Given the description of an element on the screen output the (x, y) to click on. 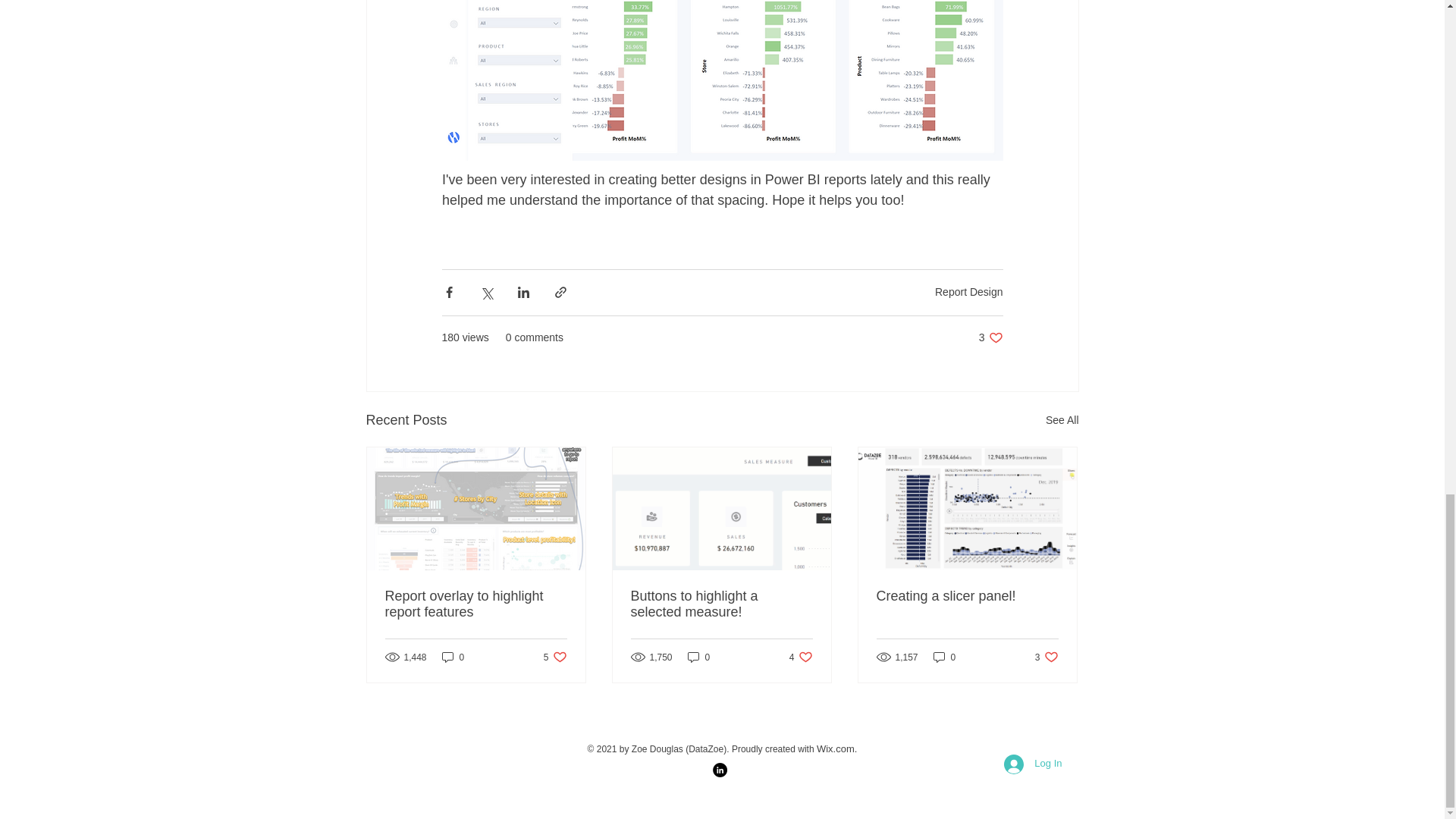
0 (990, 337)
Wix.com. (555, 657)
Buttons to highlight a selected measure! (453, 657)
Log In (800, 657)
0 (836, 748)
0 (721, 603)
Report Design (1046, 657)
Report overlay to highlight report features (1031, 764)
Creating a slicer panel! (944, 657)
See All (698, 657)
